Given the description of an element on the screen output the (x, y) to click on. 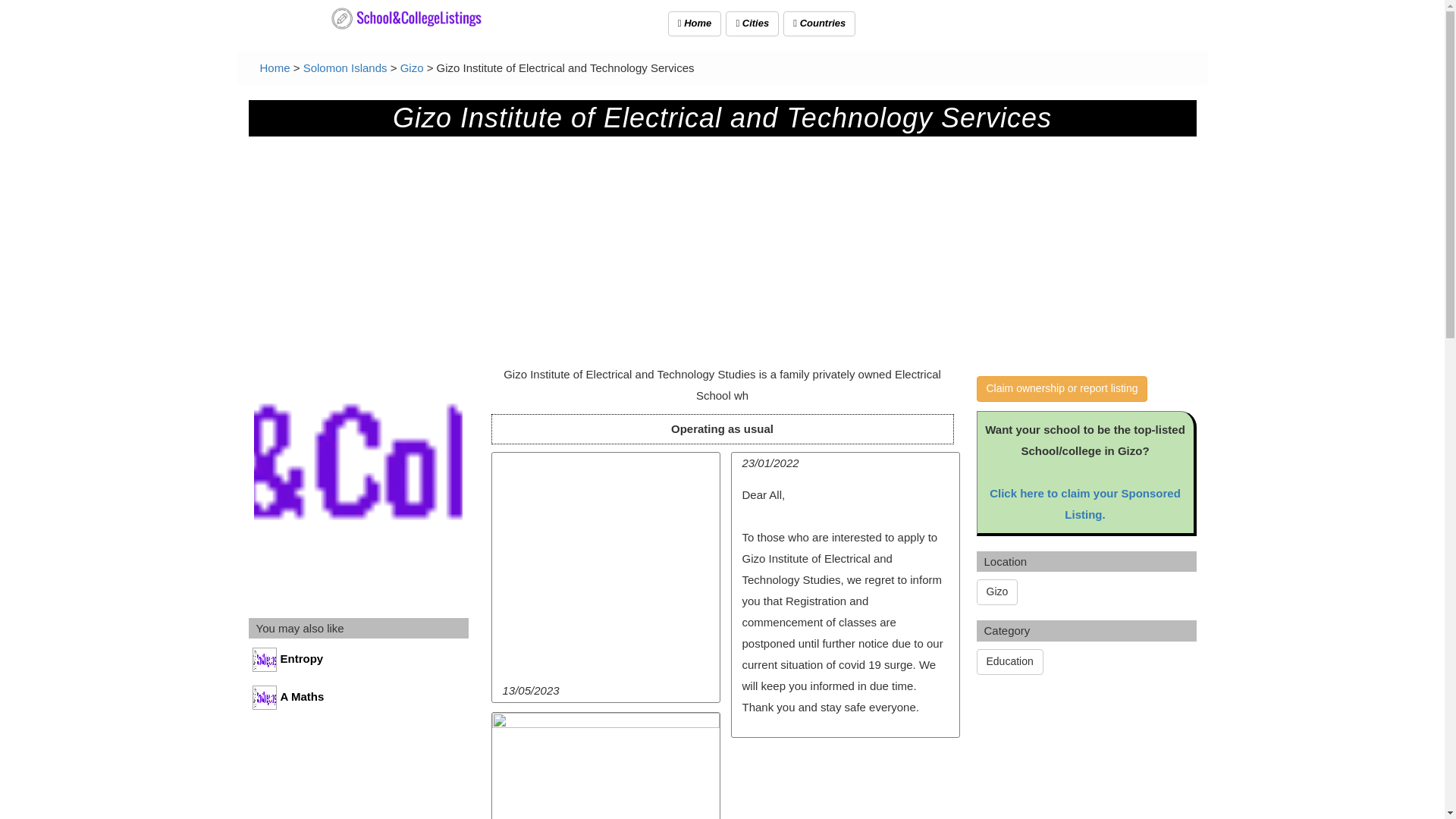
Cities (751, 23)
Gizo (996, 592)
Gizo (411, 67)
Click here to claim your Sponsored Listing. (1085, 503)
Home (694, 23)
Education (1009, 661)
Home (274, 67)
Solomon Islands (344, 67)
Entropy (358, 662)
Claim ownership or report listing (1062, 388)
3rd party ad content (1090, 756)
3rd party ad content (844, 782)
Home (274, 67)
A Maths (358, 700)
